Given the description of an element on the screen output the (x, y) to click on. 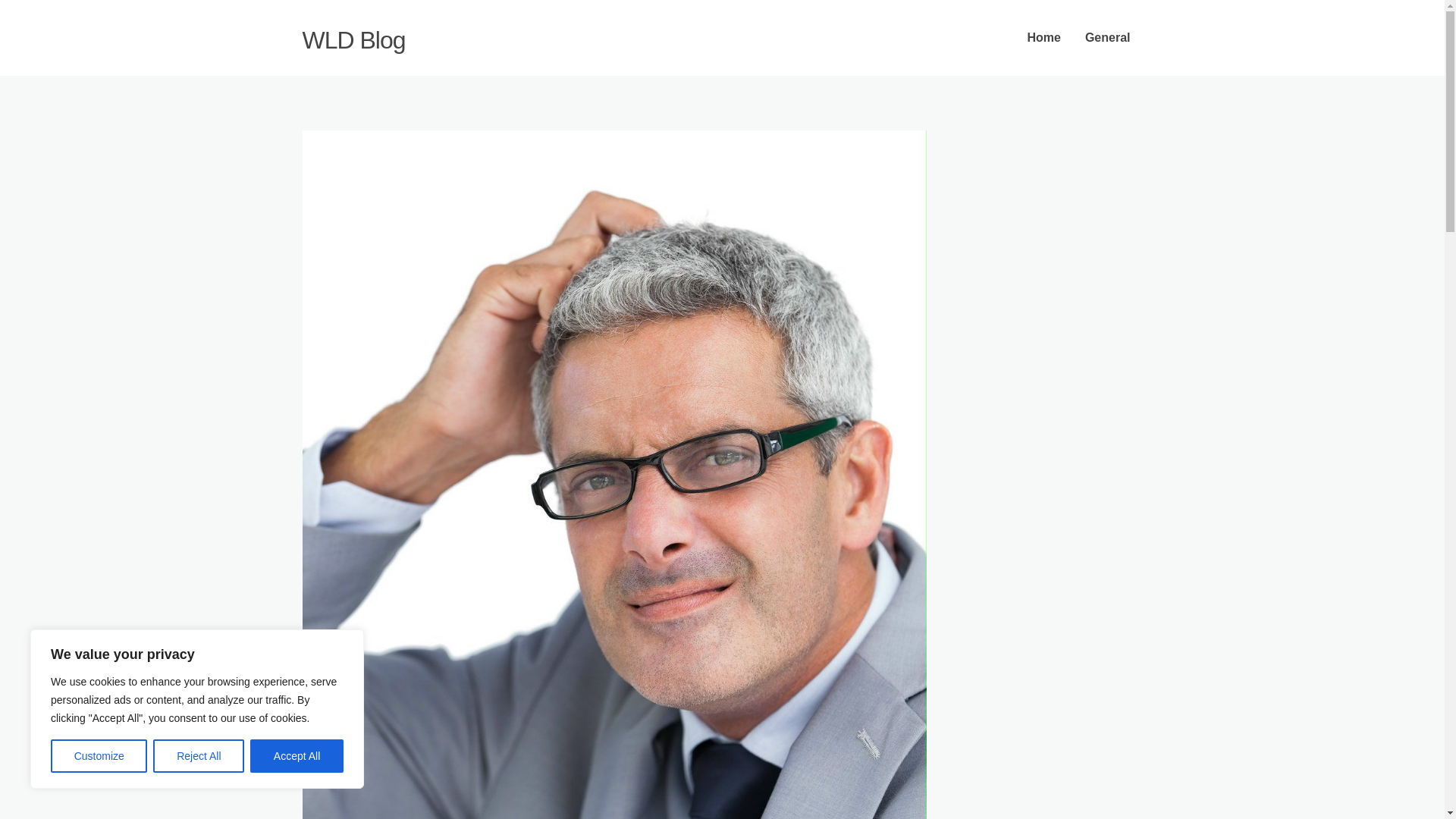
Reject All (198, 756)
Home (1042, 37)
Customize (98, 756)
General (1107, 37)
Accept All (296, 756)
WLD Blog (352, 39)
